Given the description of an element on the screen output the (x, y) to click on. 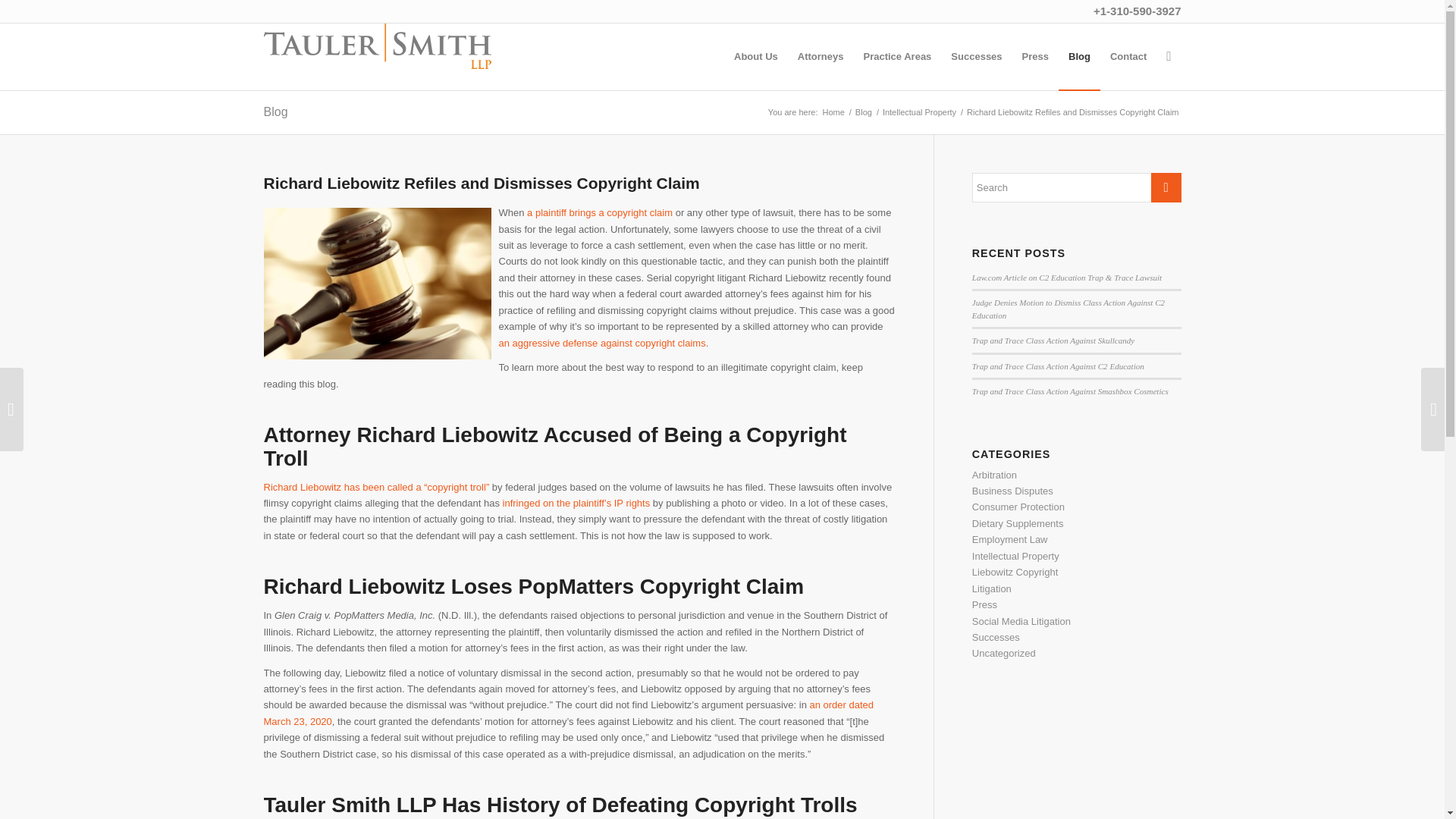
an order dated March 23, 2020 (569, 712)
an aggressive defense against copyright claims (602, 342)
Successes (975, 56)
Permanent Link: Blog (275, 111)
Blog (864, 112)
Blog (275, 111)
Intellectual Property (919, 112)
Tauler Smith LLP Los Angeles Trial Attorneys (834, 112)
Richard Liebowitz Refiles and Dismisses Copyright Claim (481, 182)
a plaintiff brings a copyright claim (599, 212)
